Given the description of an element on the screen output the (x, y) to click on. 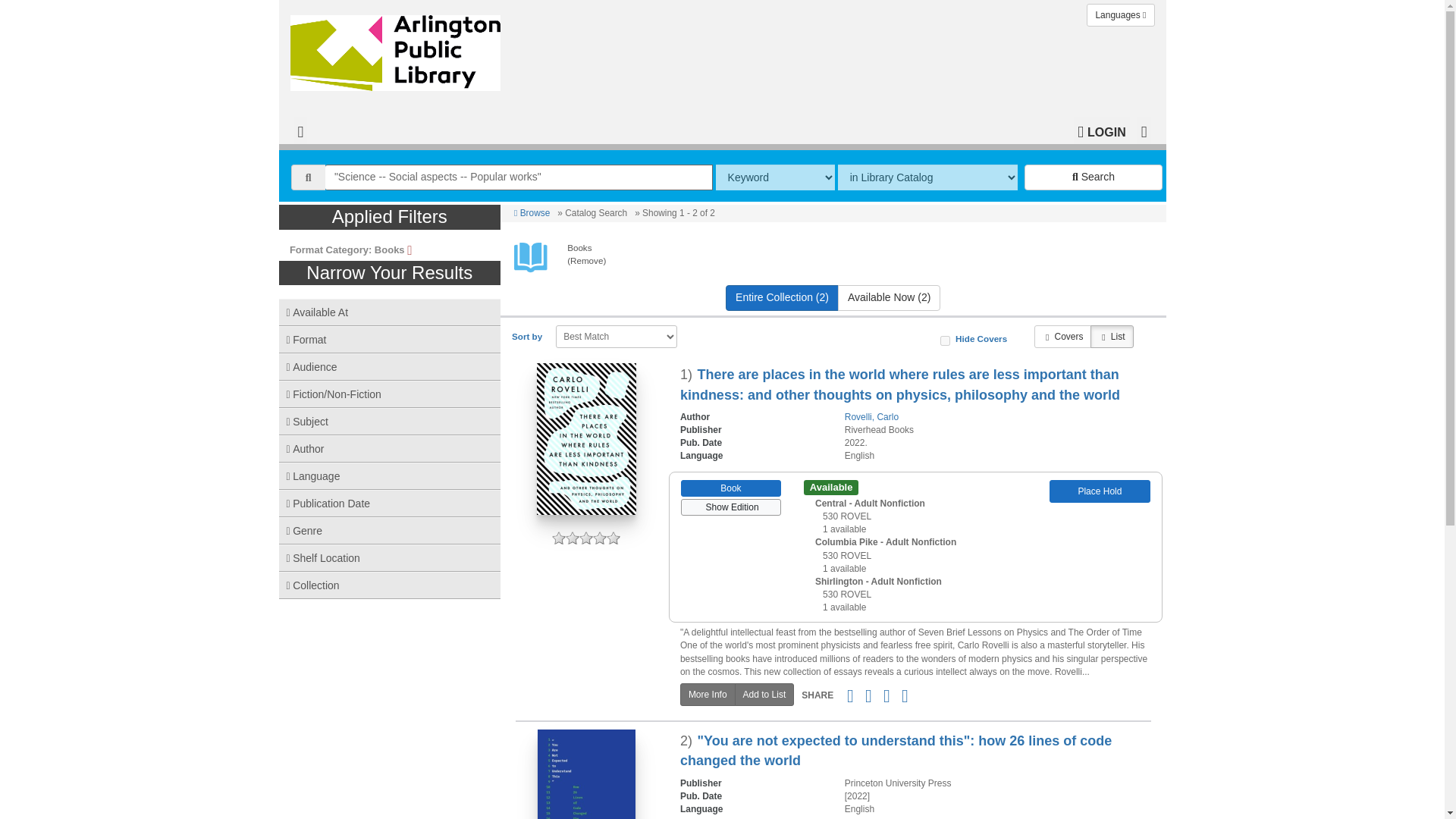
"Science -- Social aspects -- Popular works" (518, 177)
on (945, 340)
Library Home Page (397, 48)
Login (1101, 130)
The method of searching. (775, 177)
LOGIN (1101, 130)
Browse (531, 213)
Languages  (1120, 15)
 Search (1093, 177)
